Given the description of an element on the screen output the (x, y) to click on. 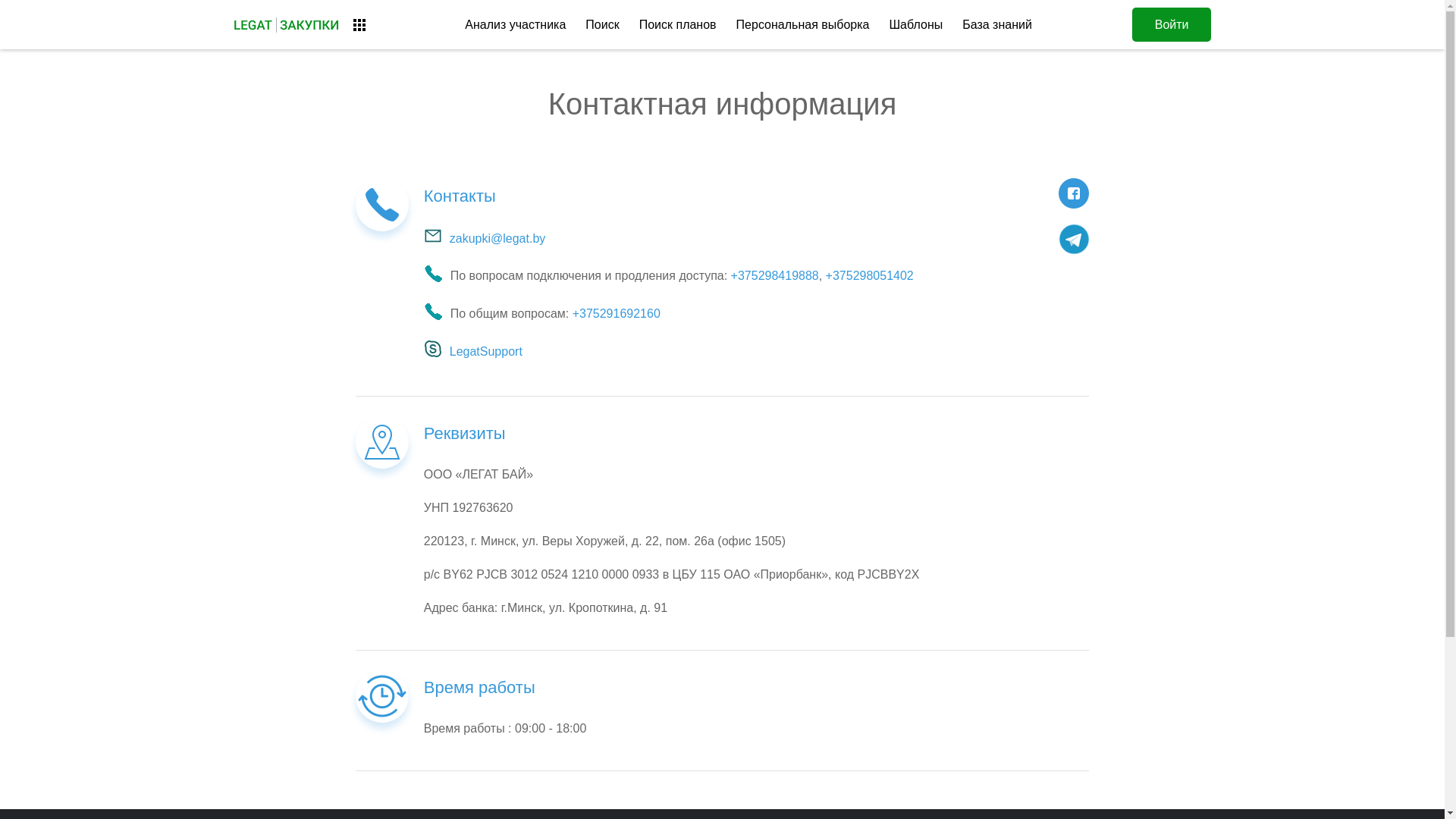
+375298419888 Element type: text (775, 275)
+375298051402 Element type: text (869, 275)
LegatSupport Element type: text (472, 351)
+375291692160 Element type: text (616, 313)
zakupki@legat.by Element type: text (484, 238)
